Given the description of an element on the screen output the (x, y) to click on. 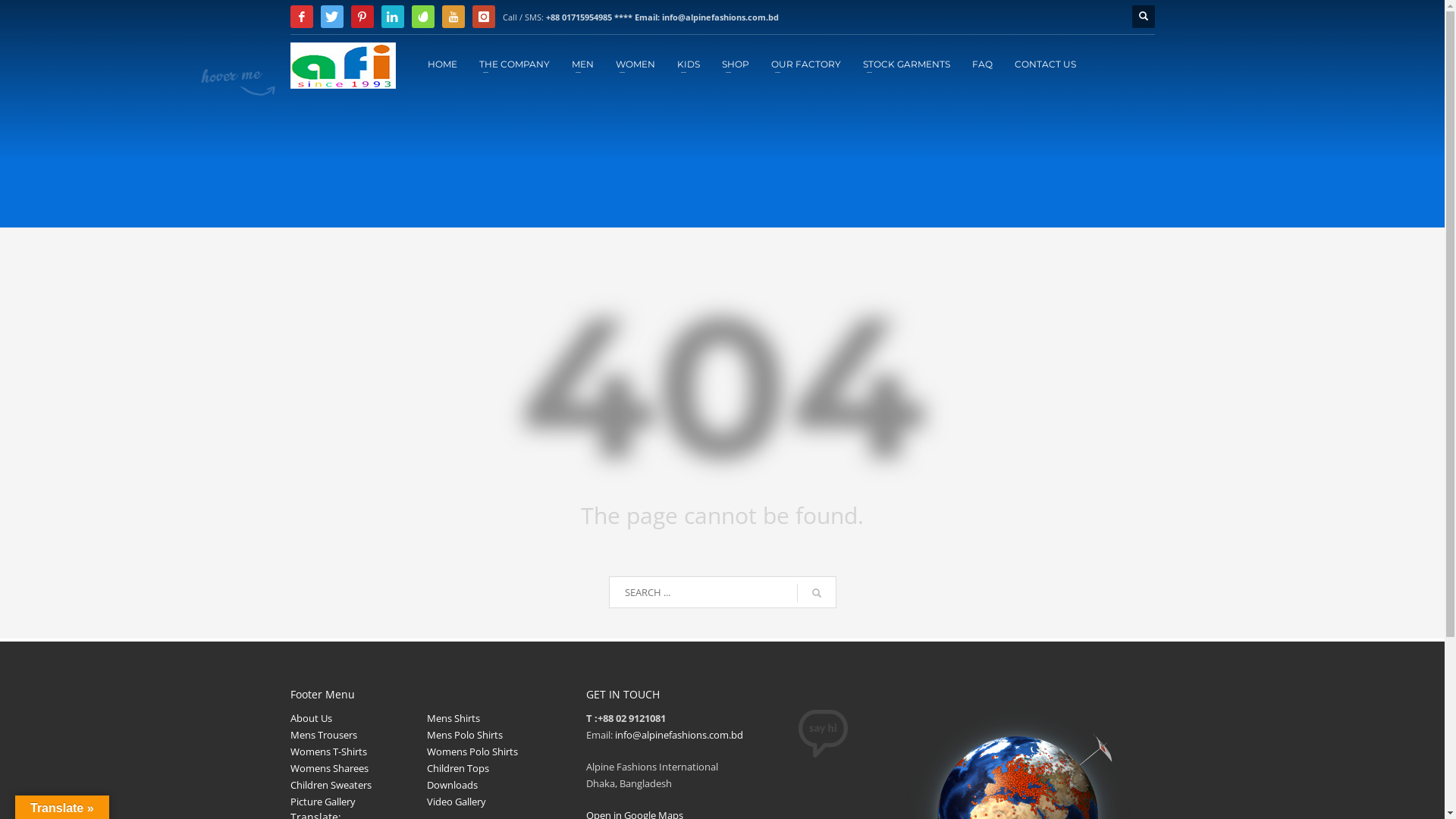
Children Sweaters Element type: text (333, 784)
CONTACT US Element type: text (1045, 64)
HOME Element type: text (442, 64)
Facebook Element type: hover (300, 16)
Twitter Element type: hover (331, 16)
Video Gallery Element type: text (459, 801)
Pinterest Element type: hover (361, 16)
Mens Shirts Element type: text (456, 717)
Mens Polo Shirts Element type: text (467, 734)
Mens Trousers Element type: text (326, 734)
WOMEN Element type: text (635, 64)
Envato Element type: hover (422, 16)
Children Tops Element type: text (460, 768)
SHOP Element type: text (735, 64)
Instagram Element type: hover (482, 16)
Downloads Element type: text (455, 784)
go Element type: text (815, 592)
THE COMPANY Element type: text (514, 64)
Picture Gallery Element type: text (325, 801)
MEN Element type: text (582, 64)
Linkedin Element type: hover (391, 16)
KIDS Element type: text (687, 64)
Womens Sharees Element type: text (332, 768)
FAQ Element type: text (982, 64)
info@alpinefashions.com.bd Element type: text (678, 734)
Womens T-Shirts Element type: text (331, 751)
About Us Element type: text (313, 717)
STOCK GARMENTS Element type: text (906, 64)
Womens Polo Shirts Element type: text (475, 751)
Welcome to our Fashion Apparels presentation Element type: hover (342, 65)
Youtube Element type: hover (452, 16)
OUR FACTORY Element type: text (805, 64)
+88 01715954985 **** Email: info@alpinefashions.com.bd Element type: text (662, 16)
